Given the description of an element on the screen output the (x, y) to click on. 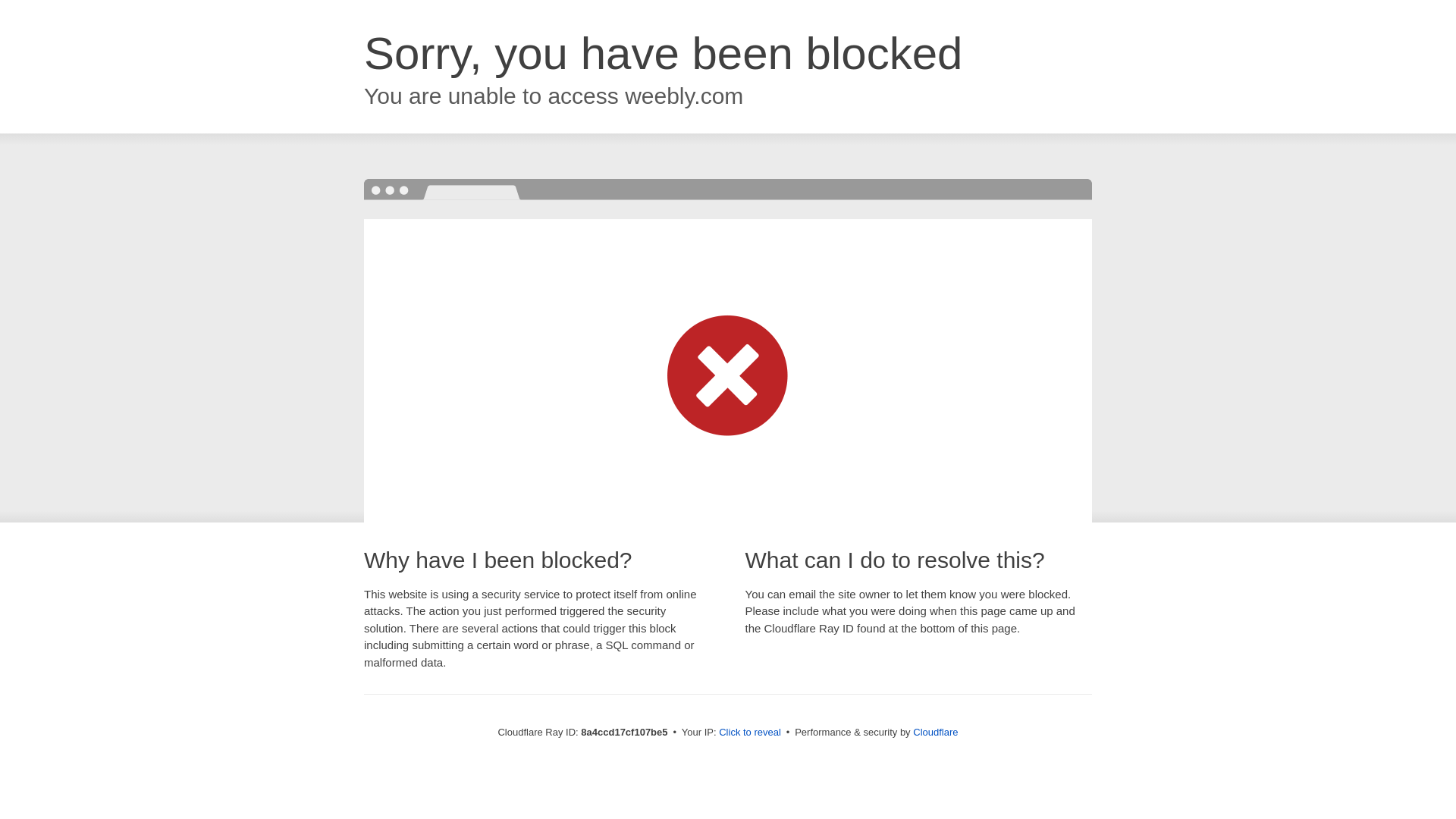
Cloudflare (935, 731)
Click to reveal (749, 732)
